Given the description of an element on the screen output the (x, y) to click on. 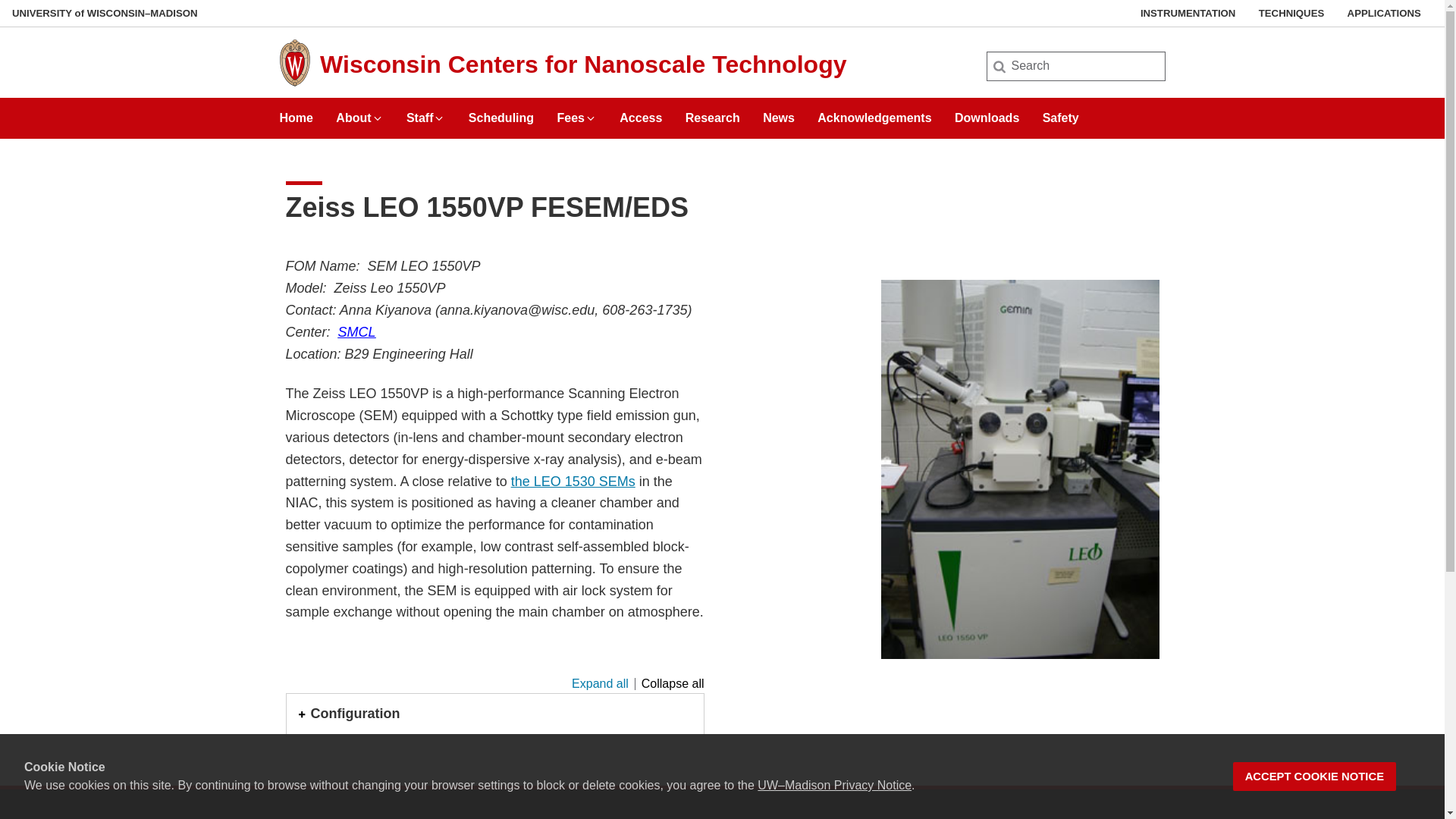
Safety (1060, 112)
Downloads (987, 112)
Expand (377, 118)
Research (712, 112)
Staff Expand (425, 112)
Collapse all (669, 684)
TECHNIQUES (1291, 13)
Expand (438, 118)
APPLICATIONS (1384, 13)
Expand all (600, 684)
About Expand (359, 112)
Expand (590, 118)
Scheduling (501, 112)
News (778, 112)
Configuration (494, 713)
